Given the description of an element on the screen output the (x, y) to click on. 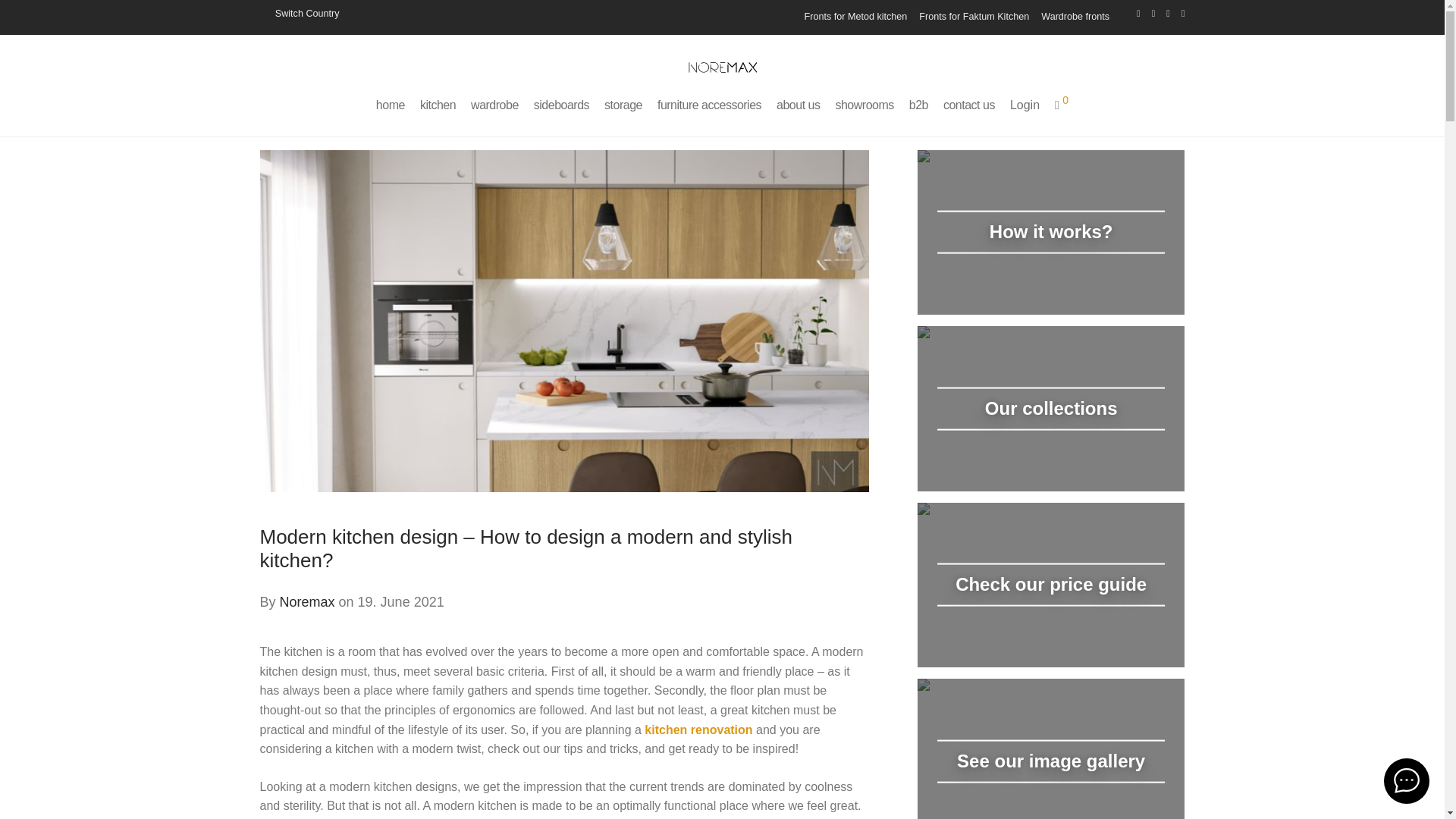
Fronts for Faktum Kitchen (973, 17)
Check our price guide (1051, 585)
Our collections (1051, 408)
How it works? (1051, 232)
kitchen renovation (698, 729)
Switch Country (299, 13)
Posts by Noremax (306, 601)
kitchen (437, 104)
Fronts for Metod kitchen (855, 17)
wardrobe (494, 104)
home (390, 104)
Wardrobe fronts (1071, 17)
See our image gallery (1051, 748)
